Given the description of an element on the screen output the (x, y) to click on. 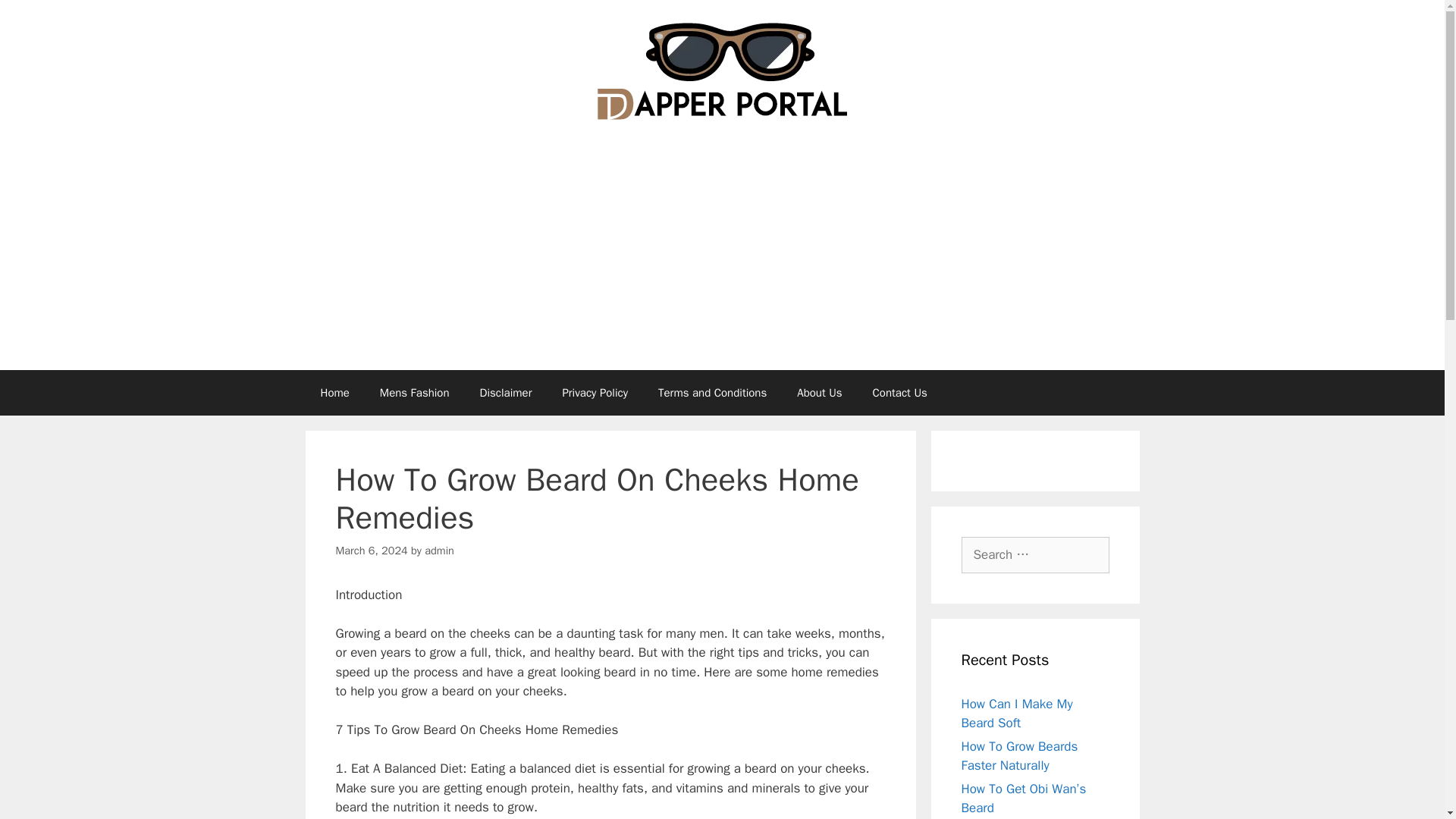
Mens Fashion (414, 392)
Terms and Conditions (712, 392)
Search for: (1034, 555)
View all posts by admin (439, 550)
admin (439, 550)
How Can I Make My Beard Soft (1016, 714)
Search (35, 18)
Home (334, 392)
Disclaimer (505, 392)
